Given the description of an element on the screen output the (x, y) to click on. 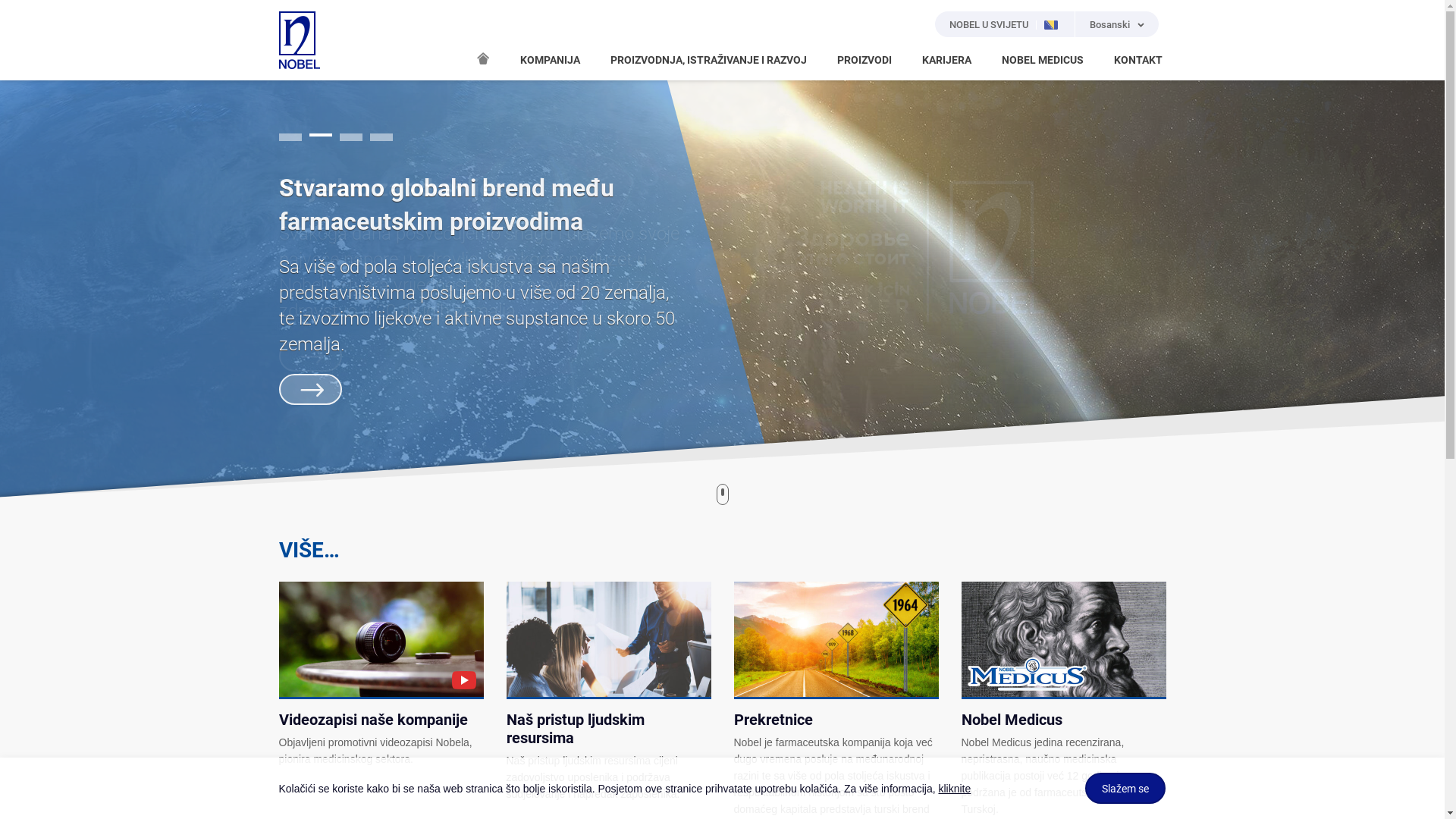
2 Element type: text (320, 137)
NOBEL U SVIJETU Element type: text (1005, 24)
NOBEL Element type: text (299, 40)
Vrijedno za zdravlje Element type: text (385, 187)
4 Element type: text (381, 137)
NOBEL MEDICUS Element type: text (1041, 60)
KONTAKT Element type: text (1137, 60)
1 Element type: text (290, 134)
kliknite Element type: text (954, 788)
3 Element type: text (350, 137)
PROIZVODI Element type: text (864, 60)
